Given the description of an element on the screen output the (x, y) to click on. 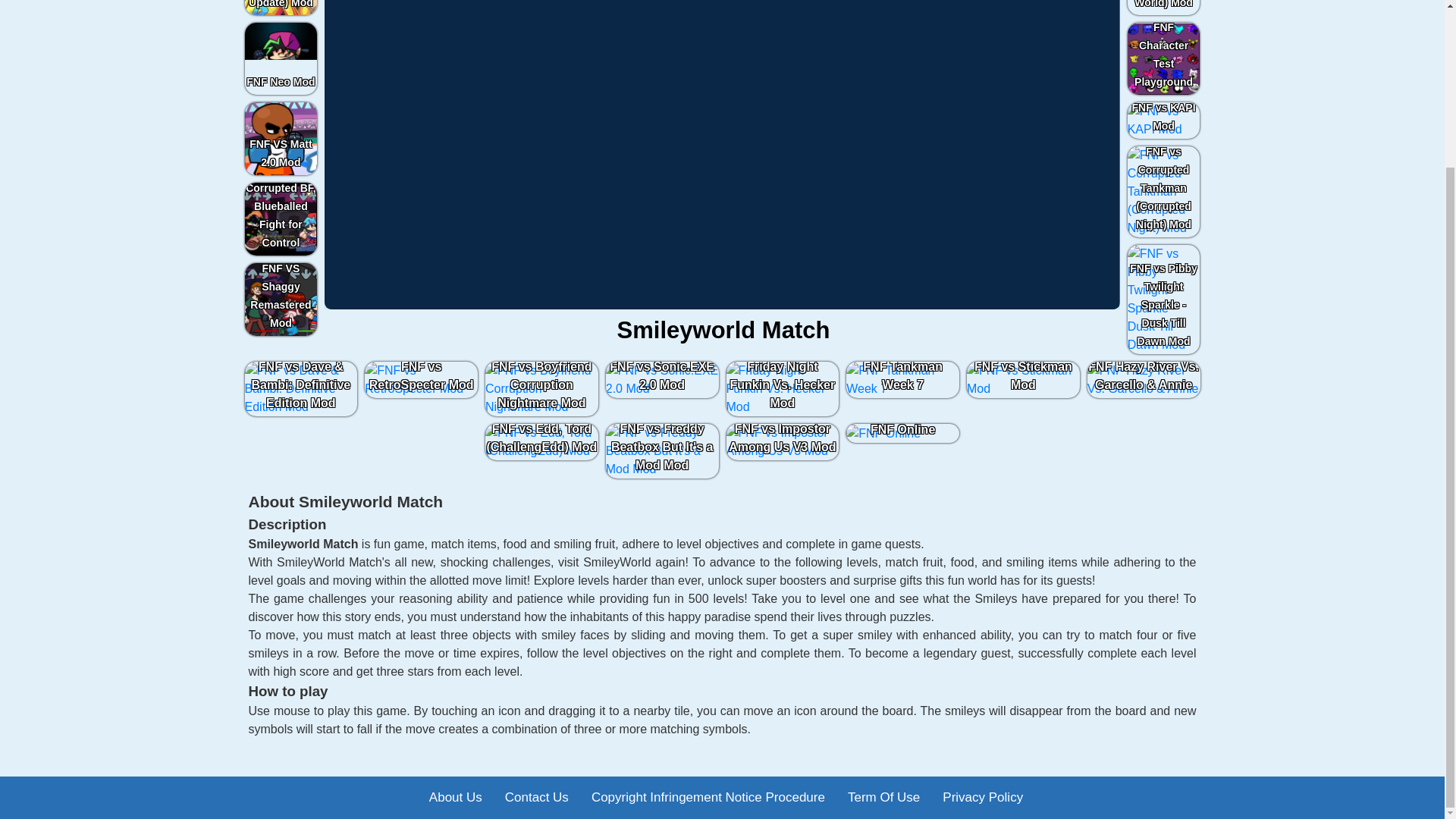
FNF VS Shaggy Remastered Mod (281, 298)
FNF vs Sonic.EXE 2.0 Mod (662, 379)
FNF VS Matt 2.0 Mod (281, 138)
FNF vs RetroSpecter Mod (421, 379)
FNF Tankman Week 7 (902, 379)
FNF Pibby vs Corrupted BF, Blueballed Fight for Control  (280, 218)
FNF vs KAPI Mod (1162, 120)
FNF VS Shaggy Remastered Mod (280, 298)
FNF vs KAPI Mod (1164, 120)
FNF vs Stickman Mod (1022, 379)
